Given the description of an element on the screen output the (x, y) to click on. 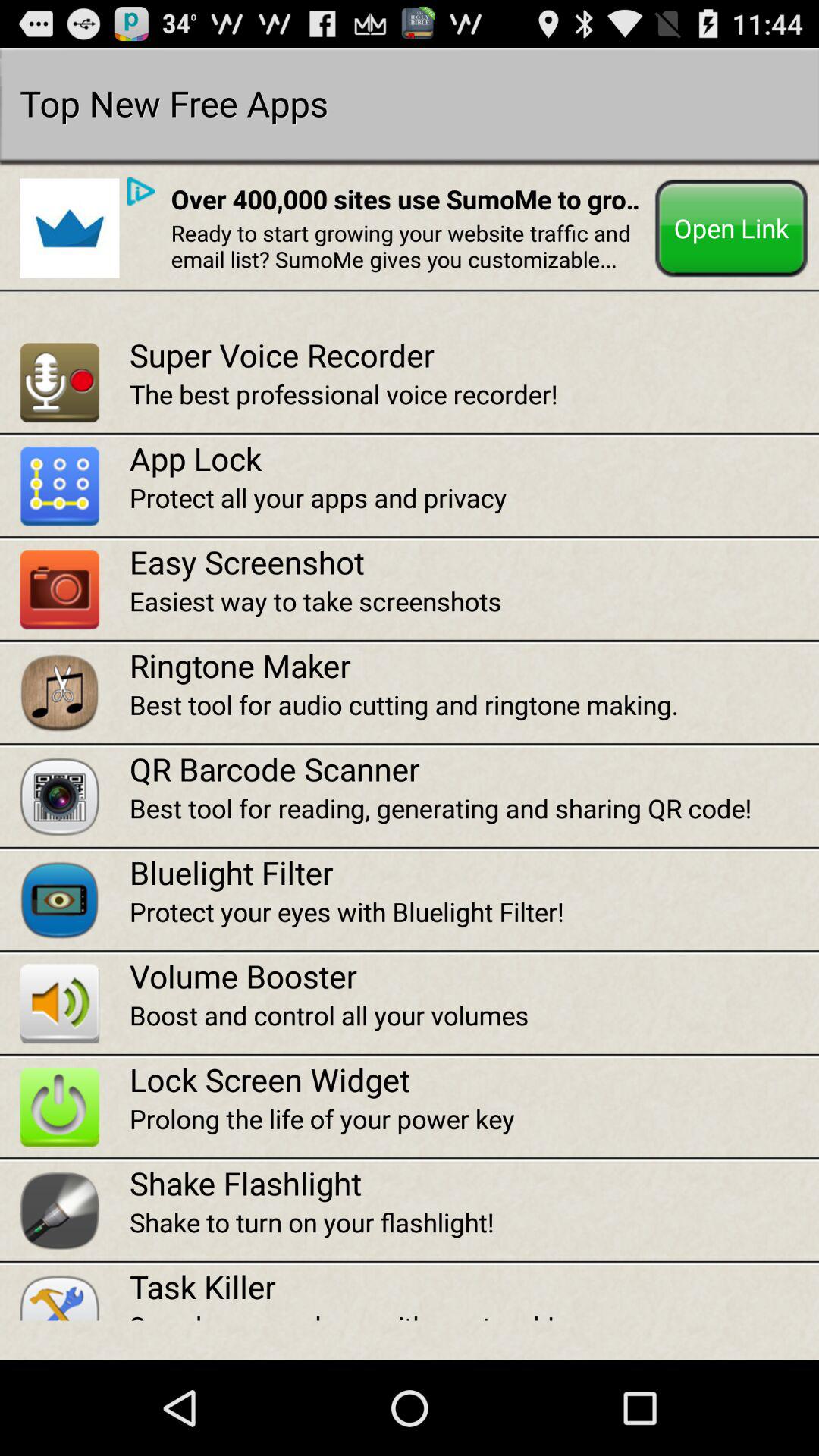
launch the icon below protect all your app (474, 561)
